Given the description of an element on the screen output the (x, y) to click on. 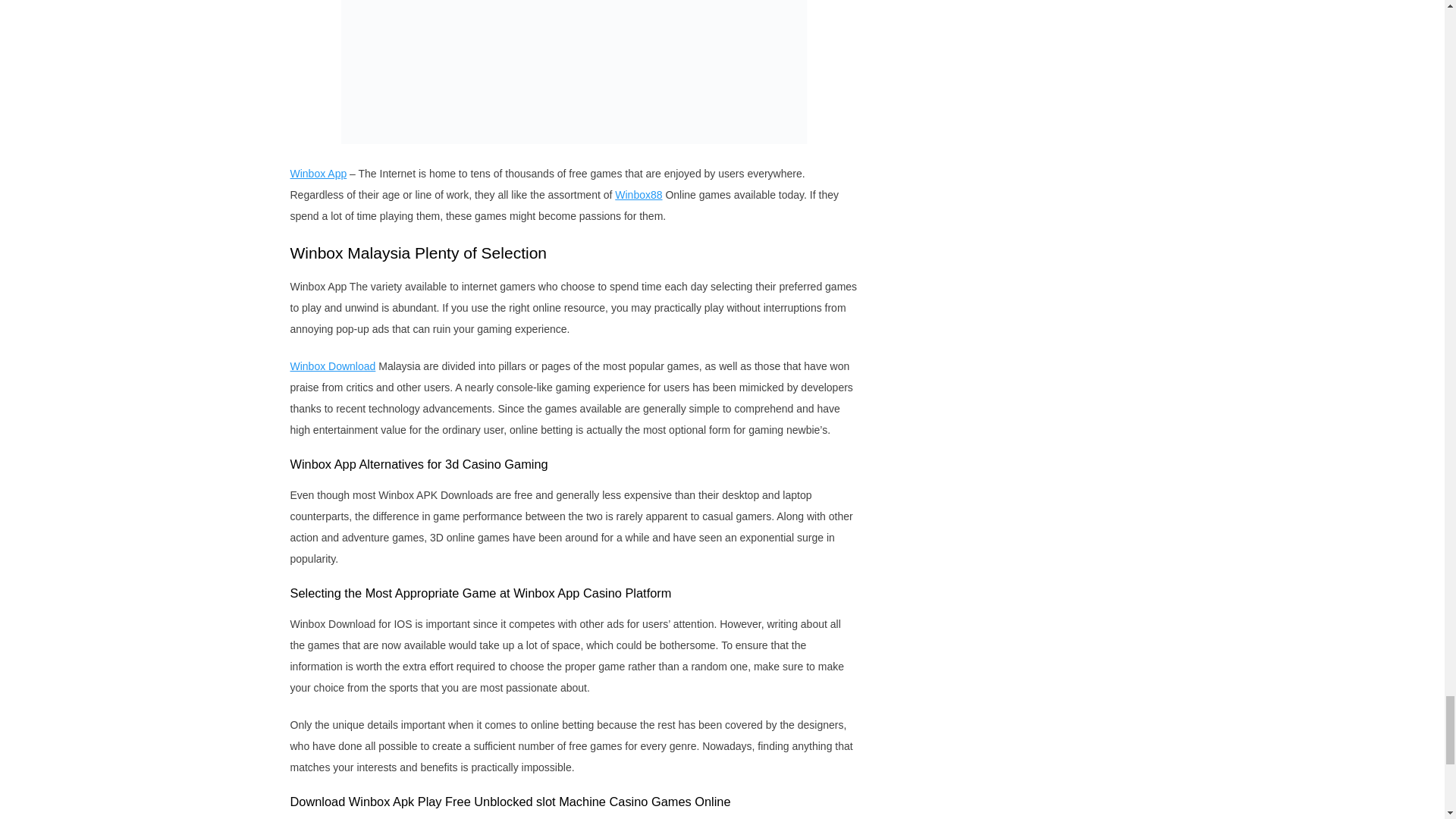
Winbox Download (332, 365)
Winbox88 (638, 194)
Winbox App (317, 173)
